Given the description of an element on the screen output the (x, y) to click on. 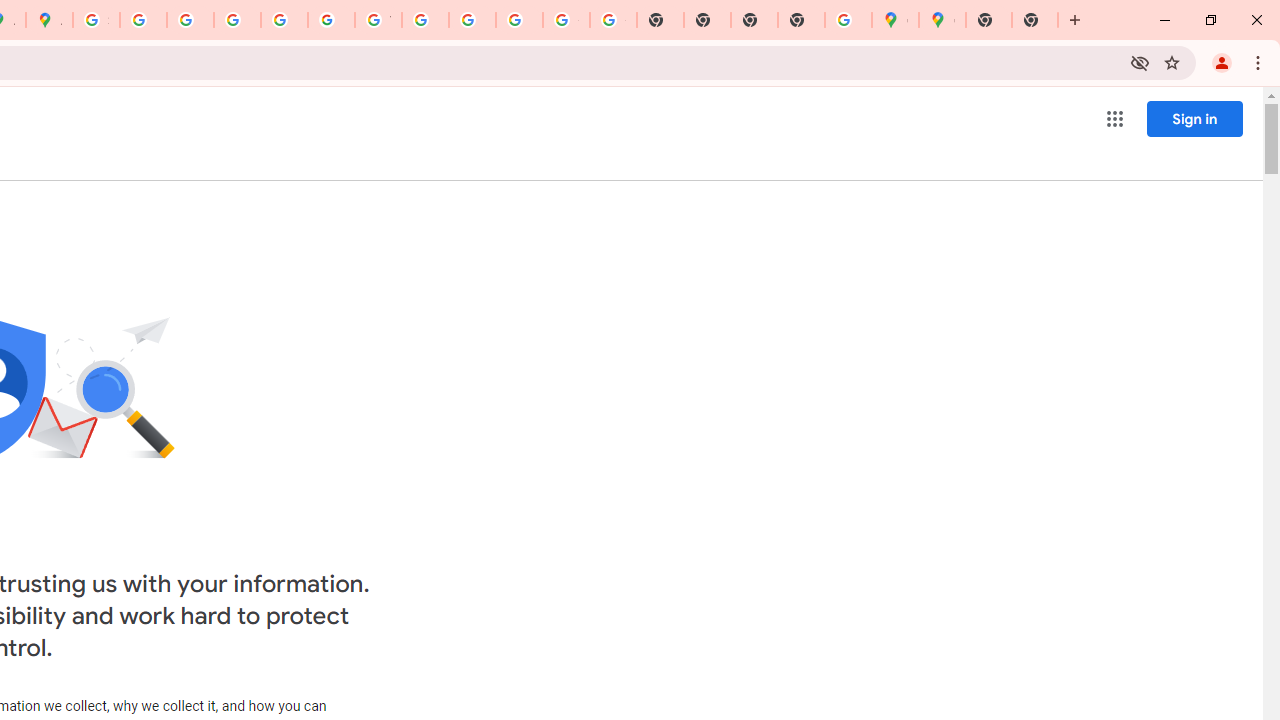
Google Maps (895, 20)
Privacy Help Center - Policies Help (237, 20)
New Tab (801, 20)
Google Maps (942, 20)
